Given the description of an element on the screen output the (x, y) to click on. 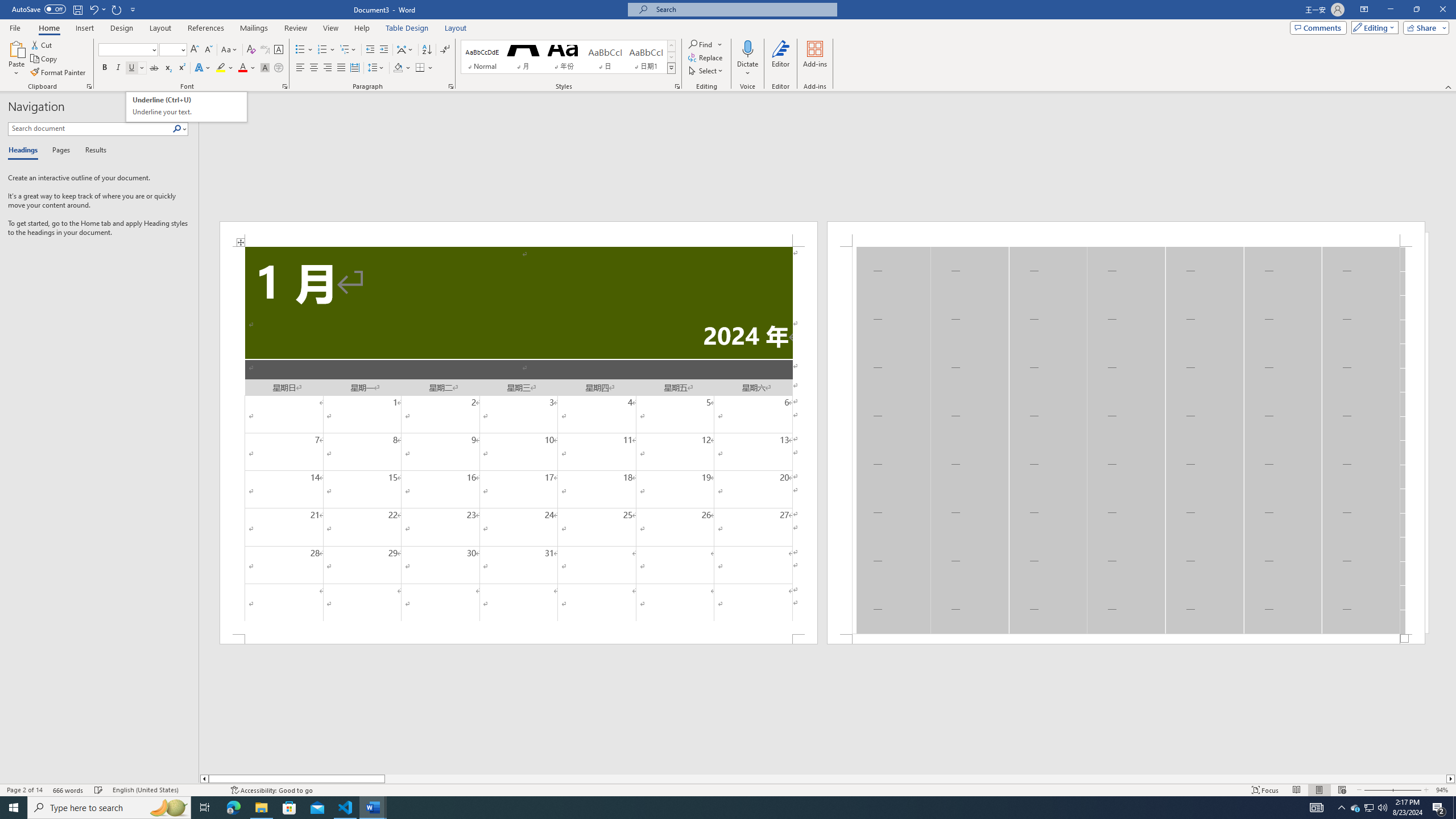
AutomationID: QuickStylesGallery (568, 56)
Character Shading (264, 67)
Grow Font (193, 49)
Text Effects and Typography (202, 67)
Cut (42, 44)
Enclose Characters... (278, 67)
Language English (United States) (165, 790)
Select (705, 69)
